Given the description of an element on the screen output the (x, y) to click on. 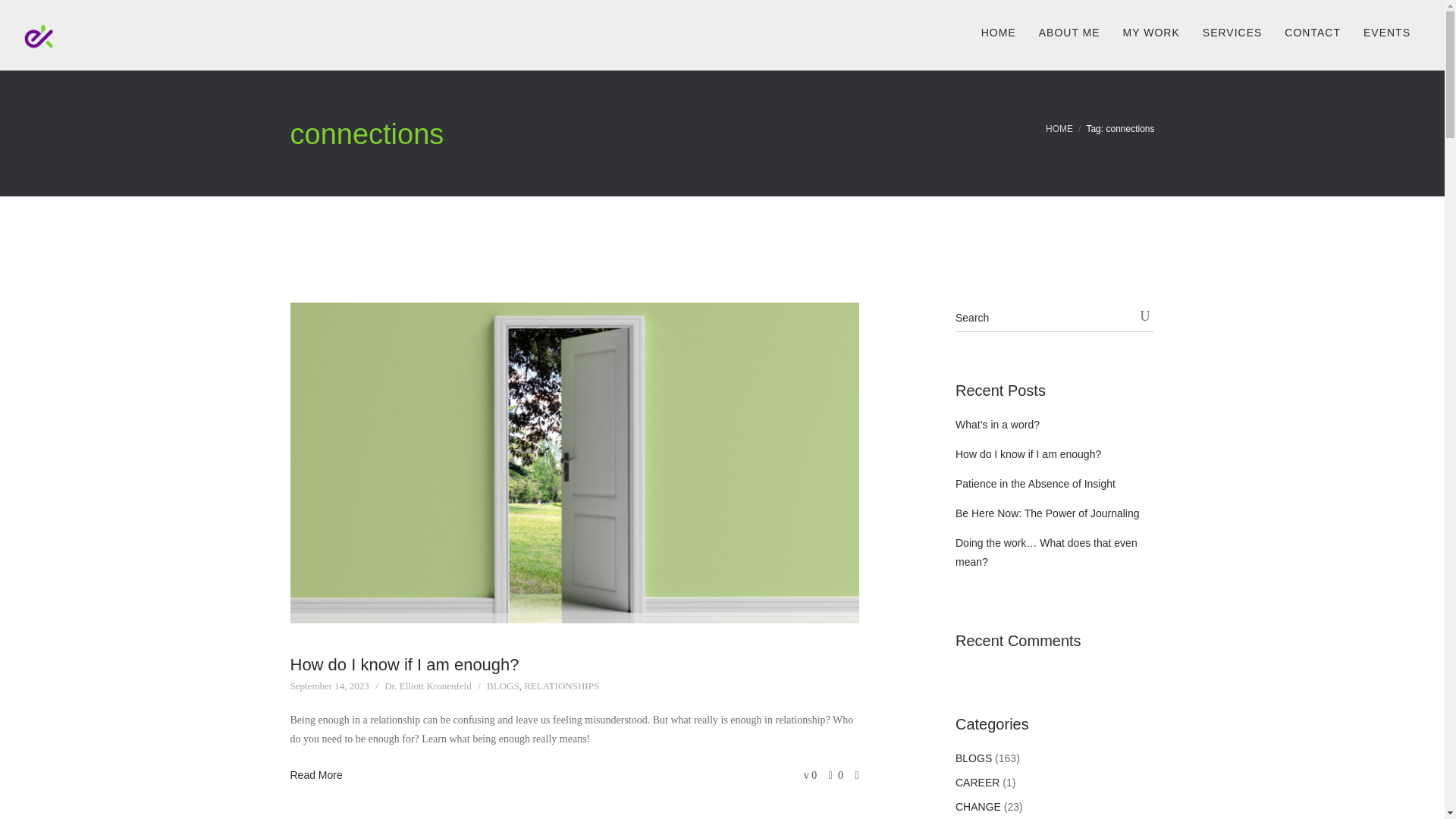
BLOGS (502, 685)
September 14, 2023 (328, 685)
RELATIONSHIPS (561, 685)
EVENTS (1386, 29)
CONTACT (1312, 29)
How do I know if I am enough? (403, 664)
Dr. Elliott Kronenfeld (427, 685)
ABOUT ME (1069, 29)
HOME (997, 29)
HOME (1059, 128)
